Given the description of an element on the screen output the (x, y) to click on. 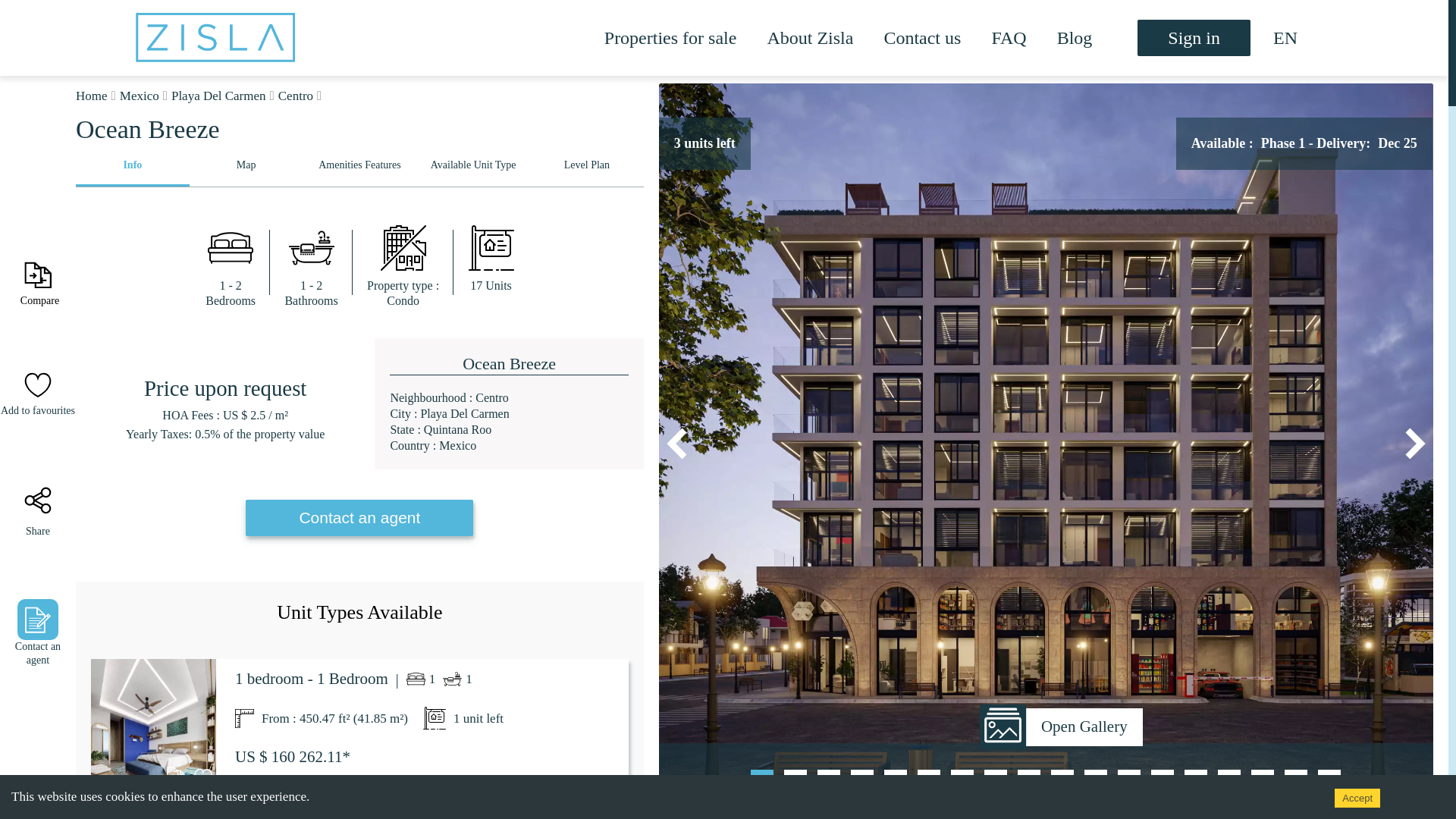
About Zisla (810, 37)
FAQ (1008, 37)
Level Plan (586, 167)
Home (91, 95)
Contact an agent (359, 518)
Contact us (921, 37)
Properties for sale (670, 37)
Amenities Features (359, 167)
Blog (1075, 37)
Mexico (138, 95)
Compare properties (37, 274)
Centro (295, 95)
Info (132, 167)
Map (245, 167)
Compare units (176, 775)
